Given the description of an element on the screen output the (x, y) to click on. 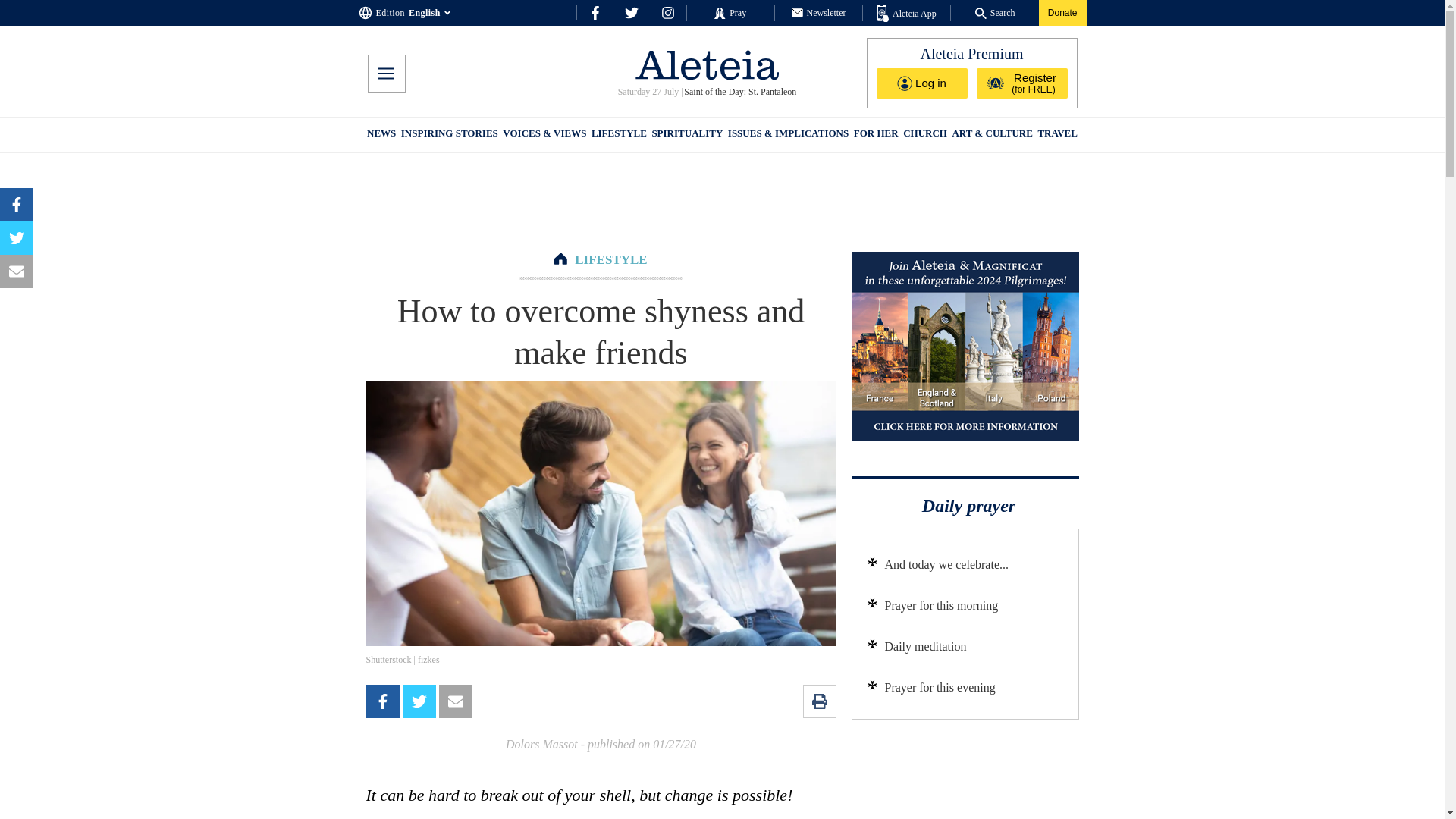
Pray (729, 12)
social-fb-top-row (595, 12)
Log in (922, 82)
Dolors Massot (541, 744)
INSPIRING STORIES (449, 134)
NEWS (381, 134)
FOR HER (875, 134)
CHURCH (924, 134)
LIFESTYLE (610, 259)
logo-header (706, 64)
TRAVEL (1056, 134)
Newsletter (818, 12)
Donate (1062, 12)
Aleteia App (906, 13)
social-ig-top-row (668, 12)
